Given the description of an element on the screen output the (x, y) to click on. 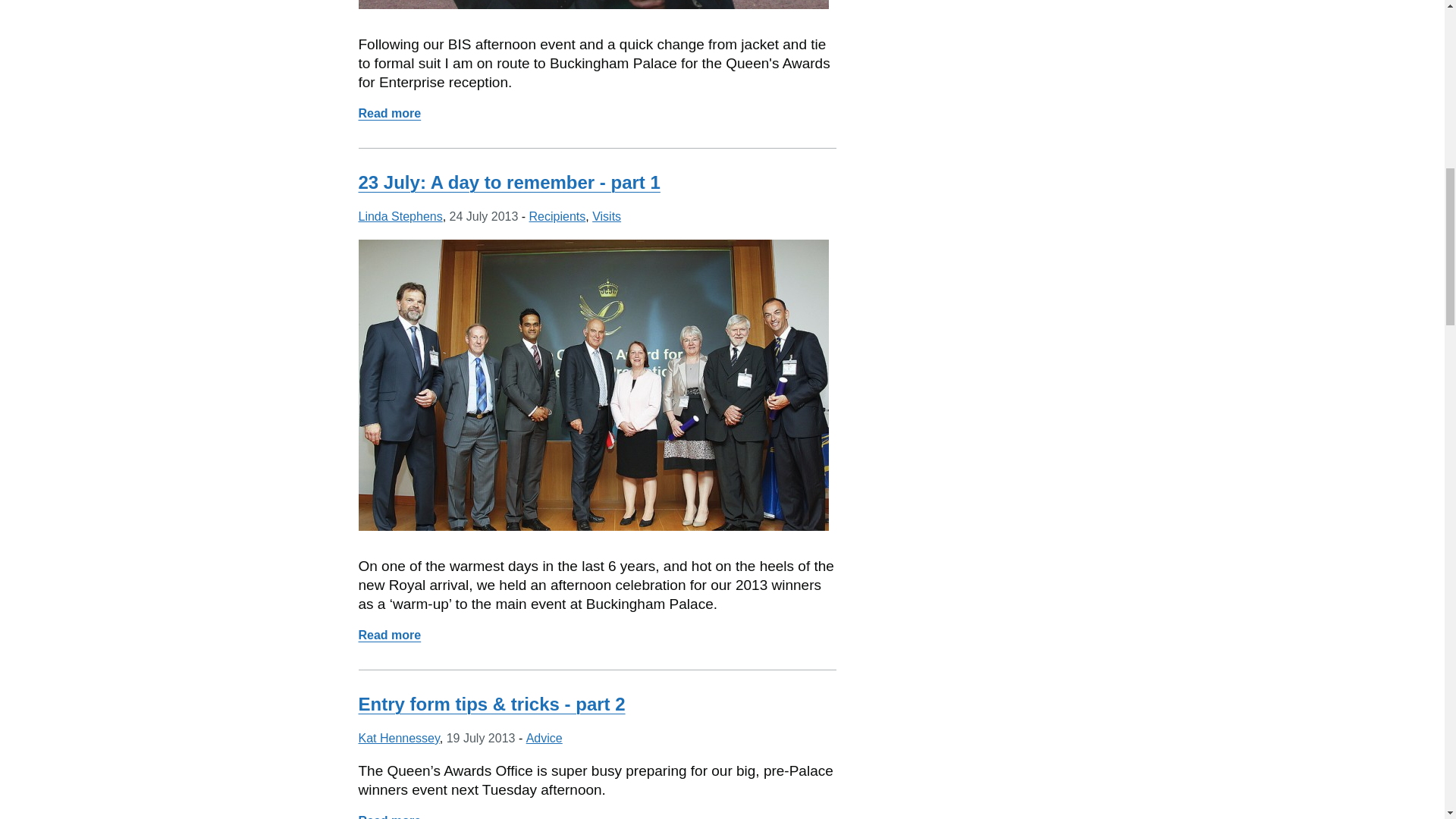
Advice (543, 738)
Posts by Kat Hennessey (398, 738)
23 July: A day to remember - part 1 (508, 181)
Linda Stephens (400, 215)
Visits (606, 215)
Posts by Linda Stephens (400, 215)
Kat Hennessey (398, 738)
Recipients (389, 634)
